Given the description of an element on the screen output the (x, y) to click on. 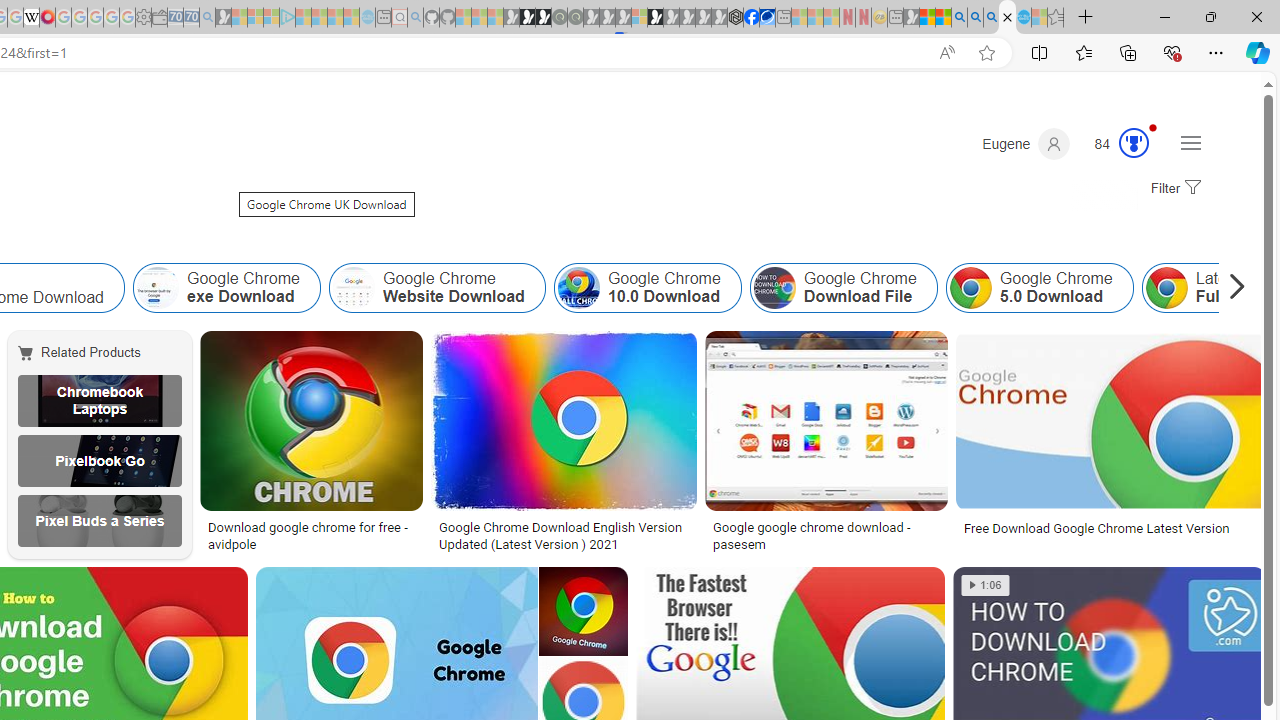
AirNow.gov (767, 17)
1:06 (985, 585)
Pixelbook Go (99, 460)
Favorites - Sleeping (1055, 17)
Google google chrome download - pasesemSave (830, 444)
AutomationID: serp_medal_svg (1133, 142)
